Given the description of an element on the screen output the (x, y) to click on. 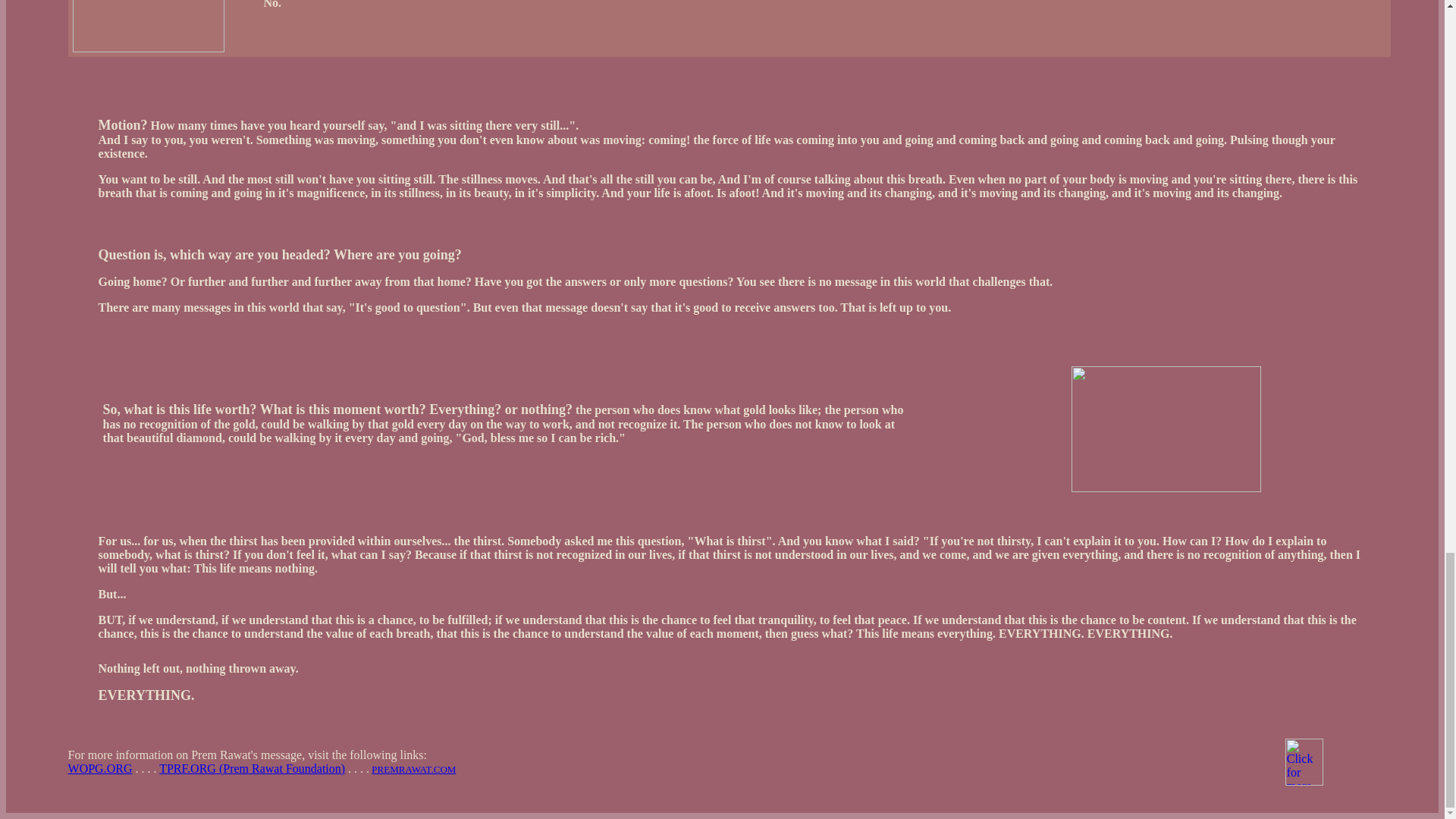
PREMRAWAT.COM (413, 768)
WOPG.ORG (100, 768)
